Given the description of an element on the screen output the (x, y) to click on. 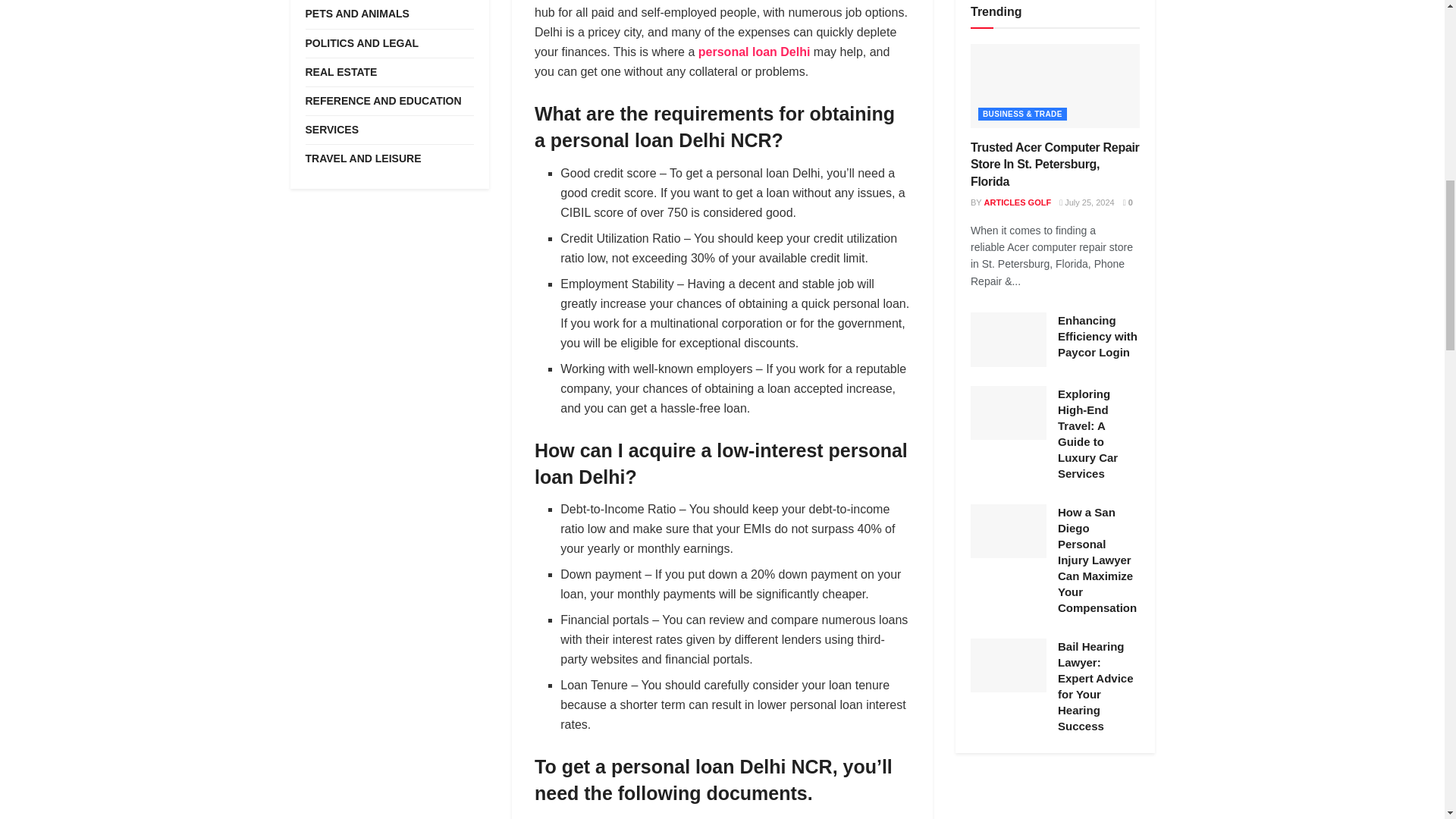
personal loan Delhi (754, 51)
